Given the description of an element on the screen output the (x, y) to click on. 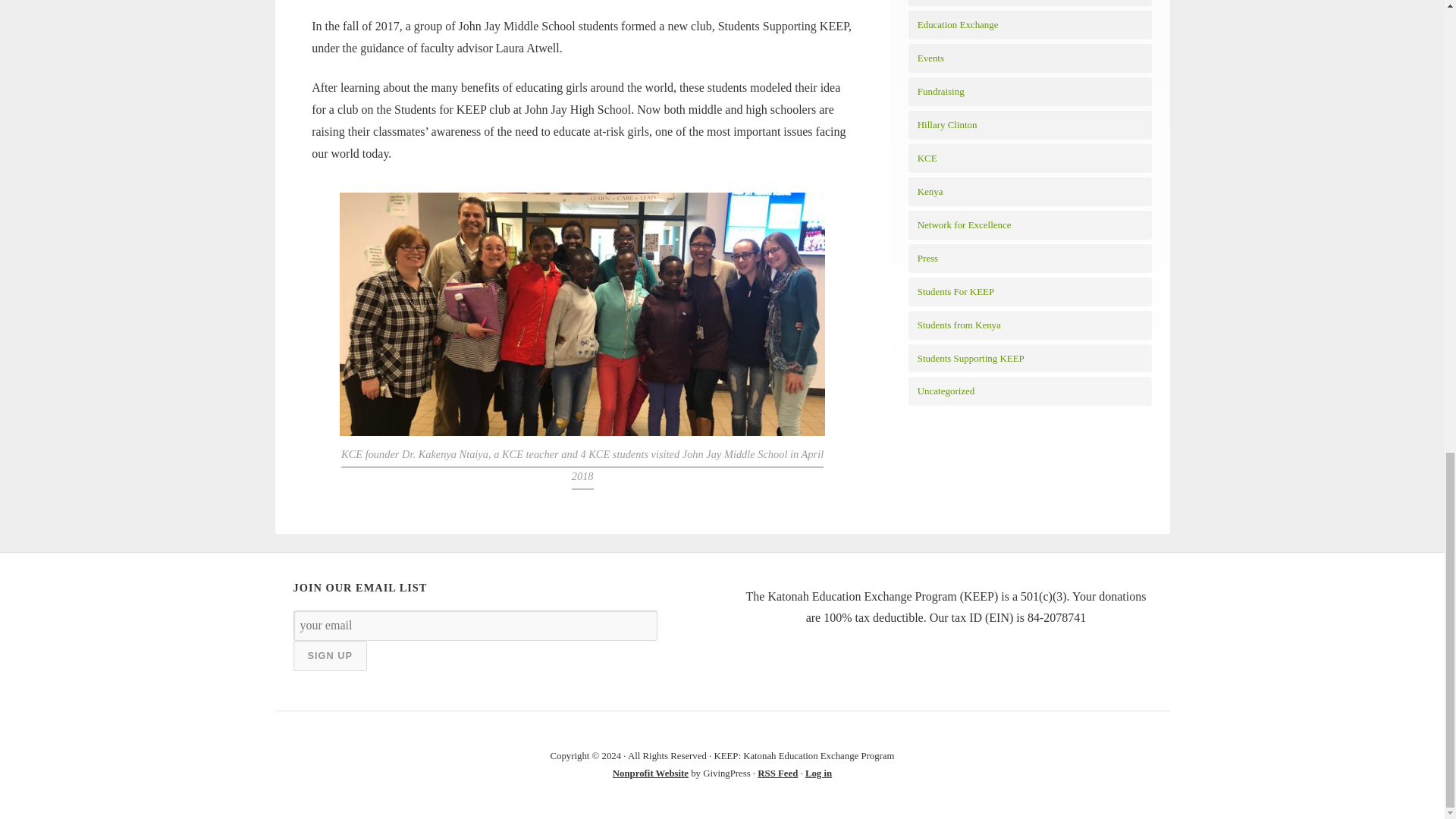
Education Exchange (957, 24)
Log in (818, 773)
Fundraising (940, 91)
Students Supporting KEEP (971, 357)
Sign up (329, 655)
Events (930, 57)
Kenya (930, 191)
KCE (927, 157)
Nonprofit Website (650, 773)
Network for Excellence (964, 224)
